Given the description of an element on the screen output the (x, y) to click on. 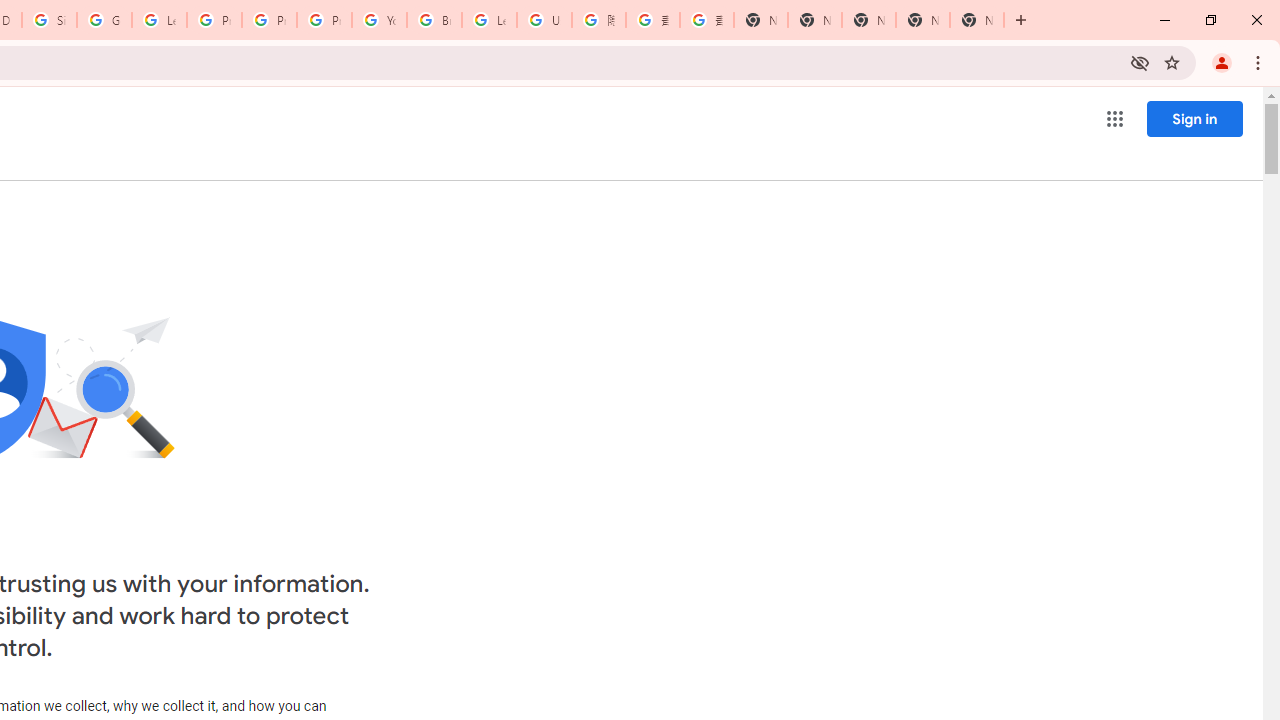
New Tab (760, 20)
Privacy Help Center - Policies Help (268, 20)
New Tab (976, 20)
